Given the description of an element on the screen output the (x, y) to click on. 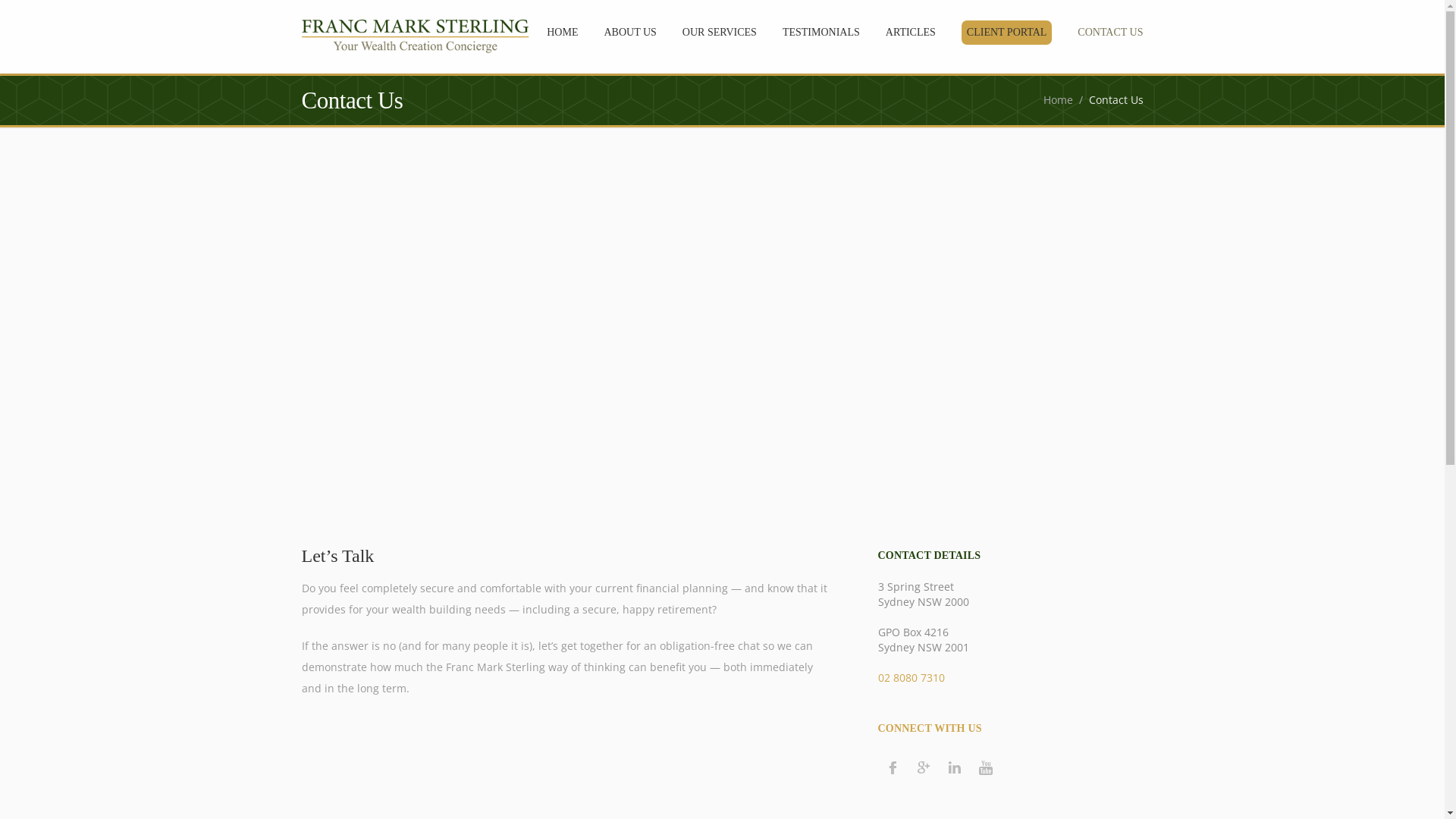
CONNECT WITH US Element type: text (930, 728)
Home Element type: text (1057, 99)
Google Plus Element type: text (923, 767)
ABOUT US Element type: text (629, 34)
CONTACT US Element type: text (1109, 34)
HOME Element type: text (561, 34)
LinkedIn Element type: text (953, 767)
Facebook Element type: text (891, 767)
02 8080 7310 Element type: text (911, 677)
Youtube Element type: text (985, 767)
TESTIMONIALS Element type: text (820, 34)
ARTICLES Element type: text (910, 34)
CLIENT PORTAL Element type: text (1006, 36)
OUR SERVICES Element type: text (719, 34)
